Given the description of an element on the screen output the (x, y) to click on. 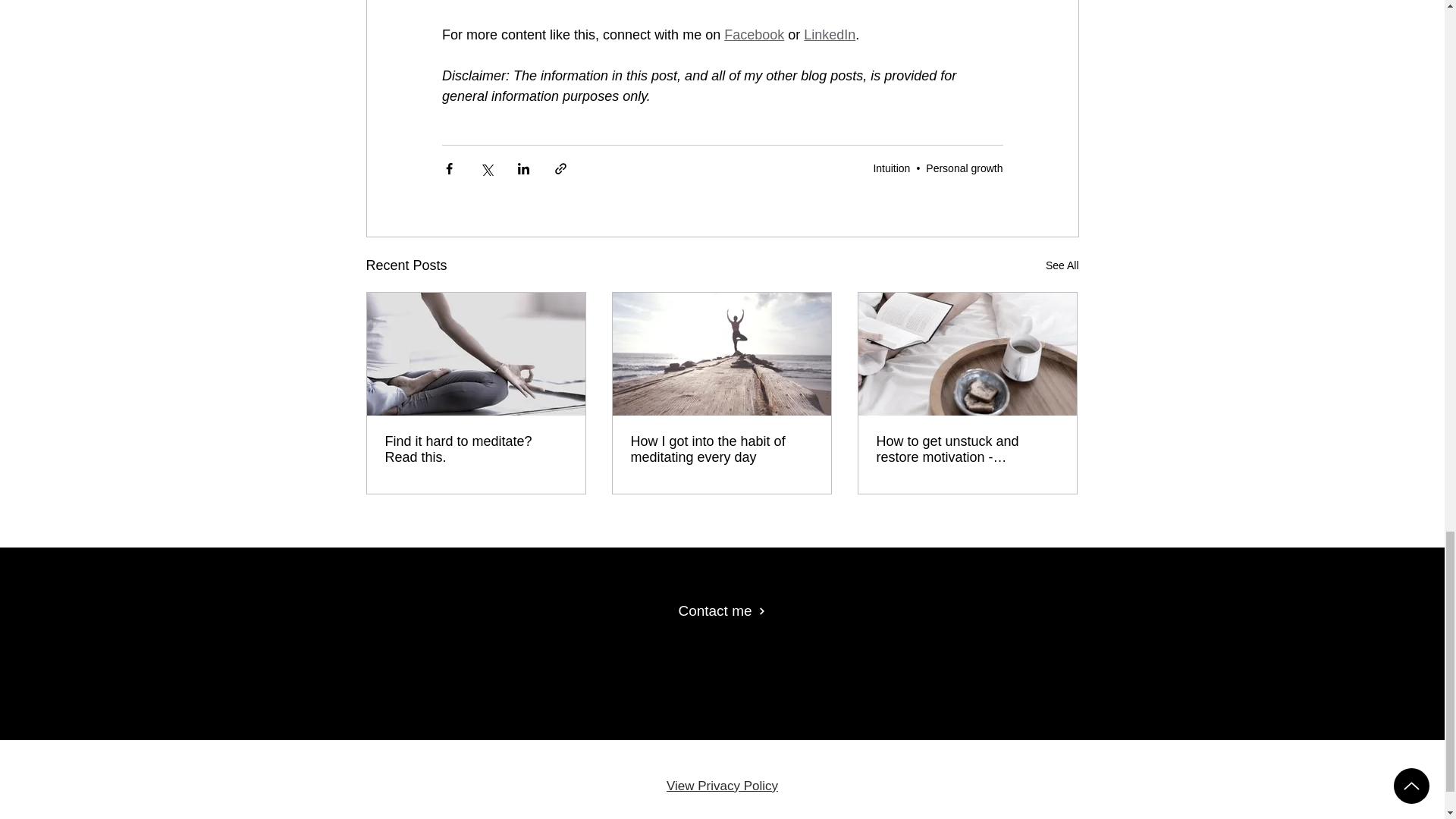
Facebook (753, 34)
Contact me (721, 610)
View Privacy Policy (721, 785)
See All (1061, 265)
Intuition (891, 168)
How to get unstuck and restore motivation - sustainably (967, 450)
LinkedIn (829, 34)
How I got into the habit of meditating every day (721, 450)
Personal growth (964, 168)
Find it hard to meditate? Read this. (476, 450)
